Given the description of an element on the screen output the (x, y) to click on. 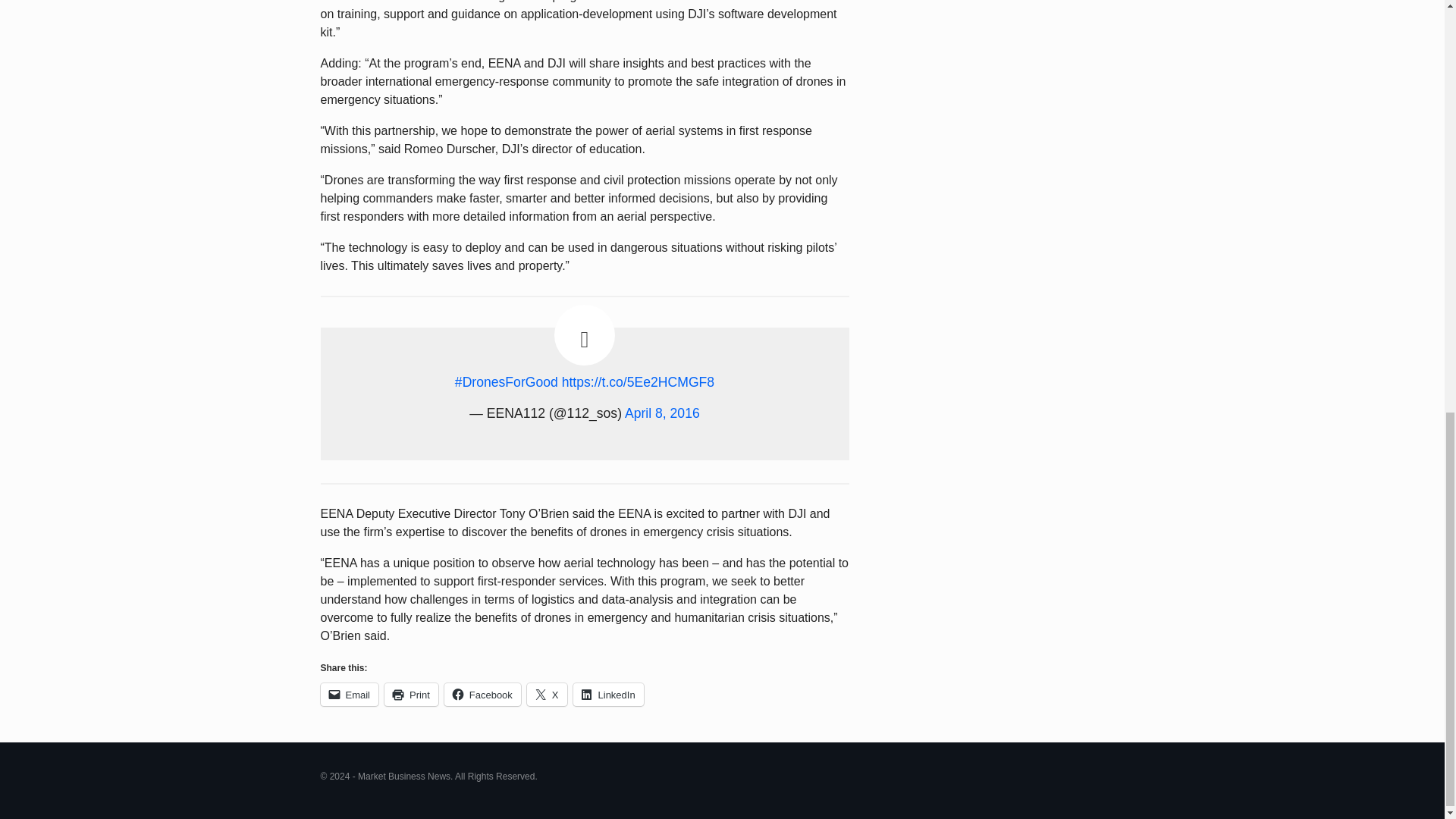
Print (411, 694)
Facebook (482, 694)
Email (349, 694)
LinkedIn (608, 694)
X (547, 694)
a statement (412, 1)
Click to share on X (547, 694)
Click to email a link to a friend (349, 694)
Click to share on LinkedIn (608, 694)
Click to share on Facebook (482, 694)
